Given the description of an element on the screen output the (x, y) to click on. 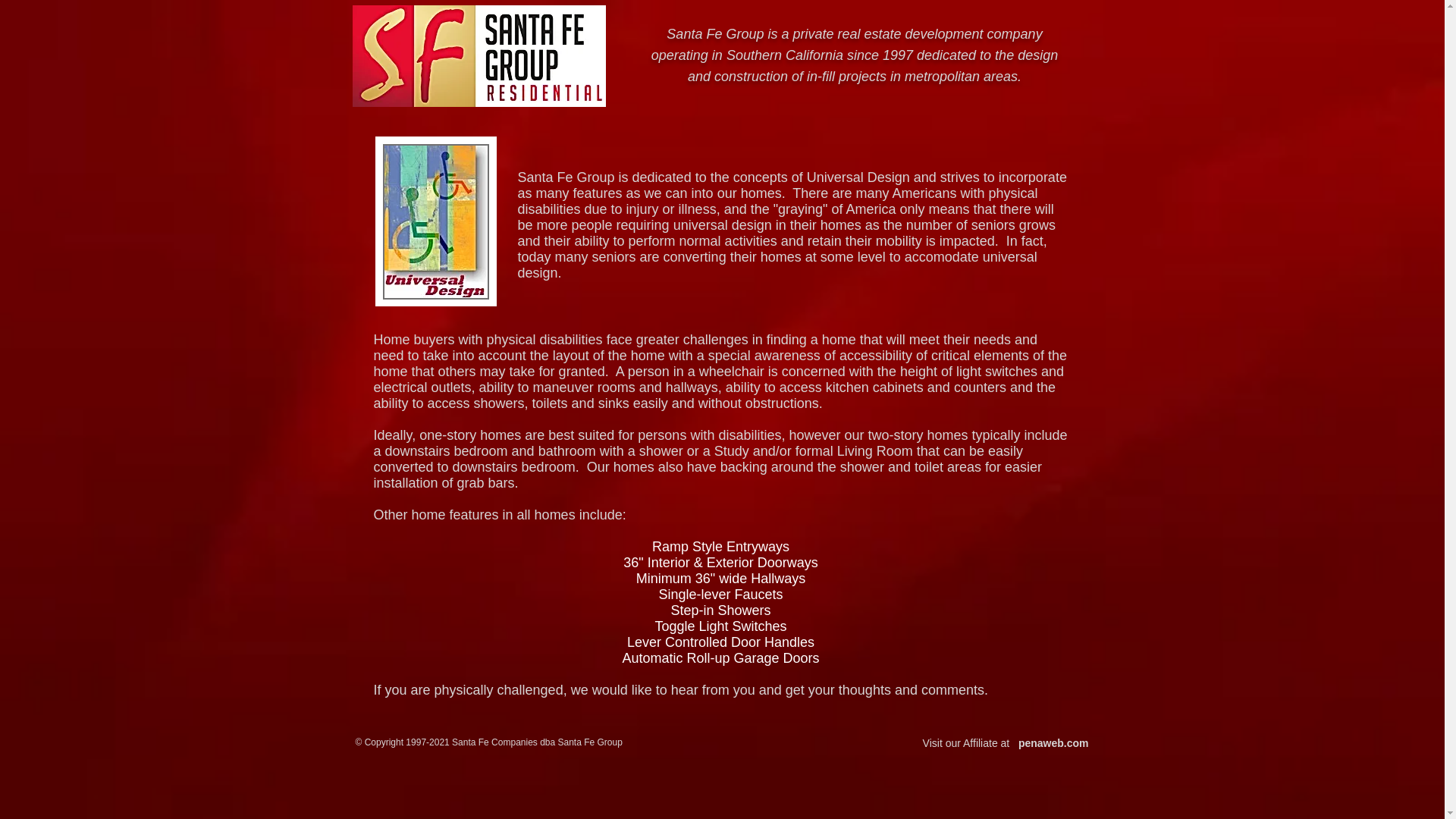
penaweb.com (1053, 743)
